Given the description of an element on the screen output the (x, y) to click on. 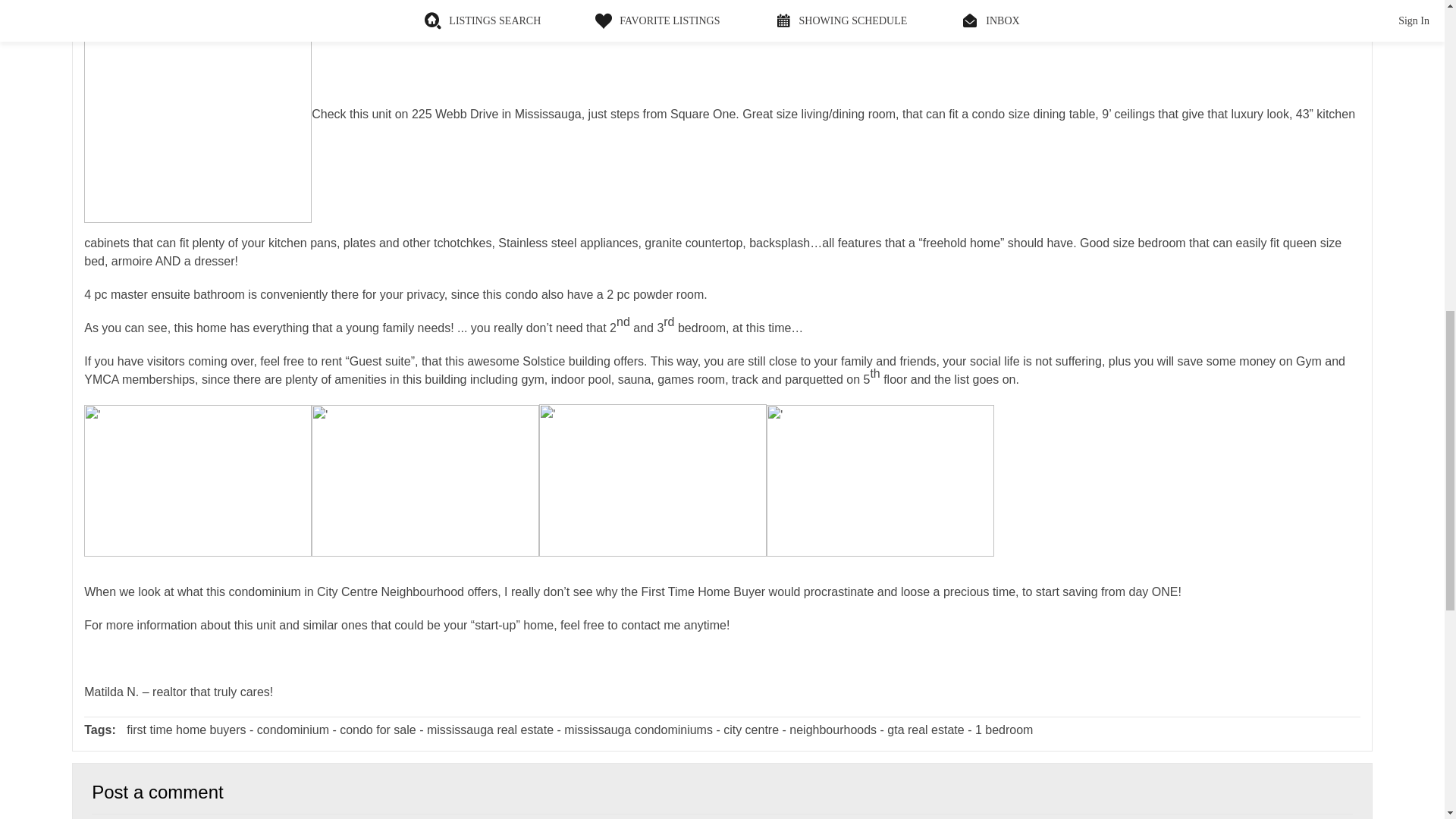
condominium (293, 729)
first time home buyers (186, 729)
condo for sale (377, 729)
